Given the description of an element on the screen output the (x, y) to click on. 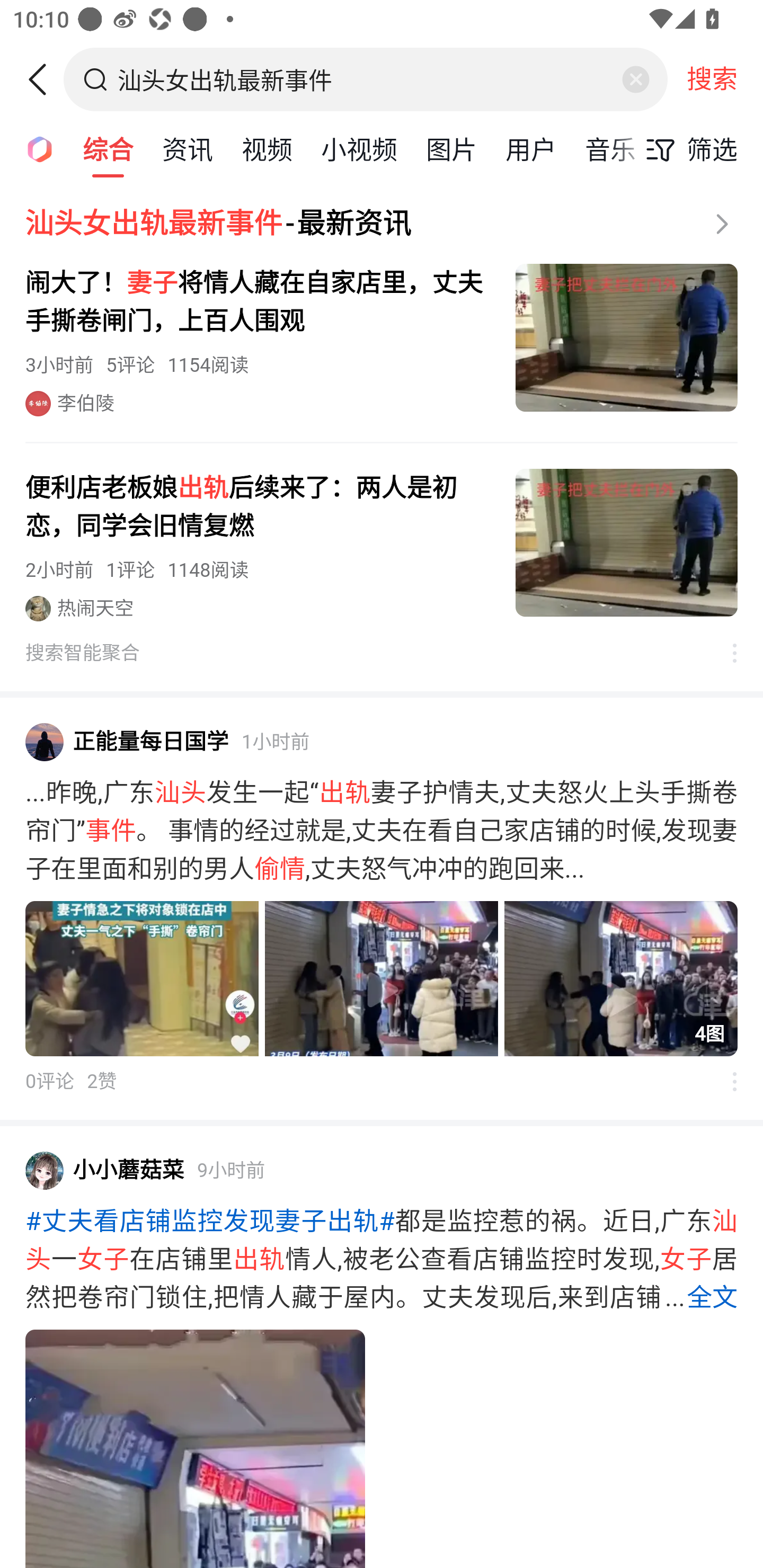
搜索框，汕头女出轨最新事件 (366, 79)
搜索 (711, 79)
返回 (44, 79)
清除 (635, 79)
资讯 (187, 148)
视频 (266, 148)
小视频 (359, 148)
图片 (451, 148)
用户 (530, 148)
音乐 (610, 148)
筛选 (686, 149)
AI问答 (34, 148)
汕头女出轨最新事件 -最新资讯 (381, 223)
闹大了！妻子将情人藏在自家店里，丈夫手撕卷闸门，上百人围观 3小时前5评论1154阅读 李伯陵 (381, 340)
便利店老板娘出轨后续来了：两人是初恋，同学会旧情复燃 2小时前1评论1148阅读 热闹天空 (381, 544)
举报反馈 (724, 652)
正能量每日国学 1小时前 (381, 741)
4图 (381, 978)
举报反馈 (724, 1080)
小小蘑菇菜 9小时前 (381, 1170)
